Given the description of an element on the screen output the (x, y) to click on. 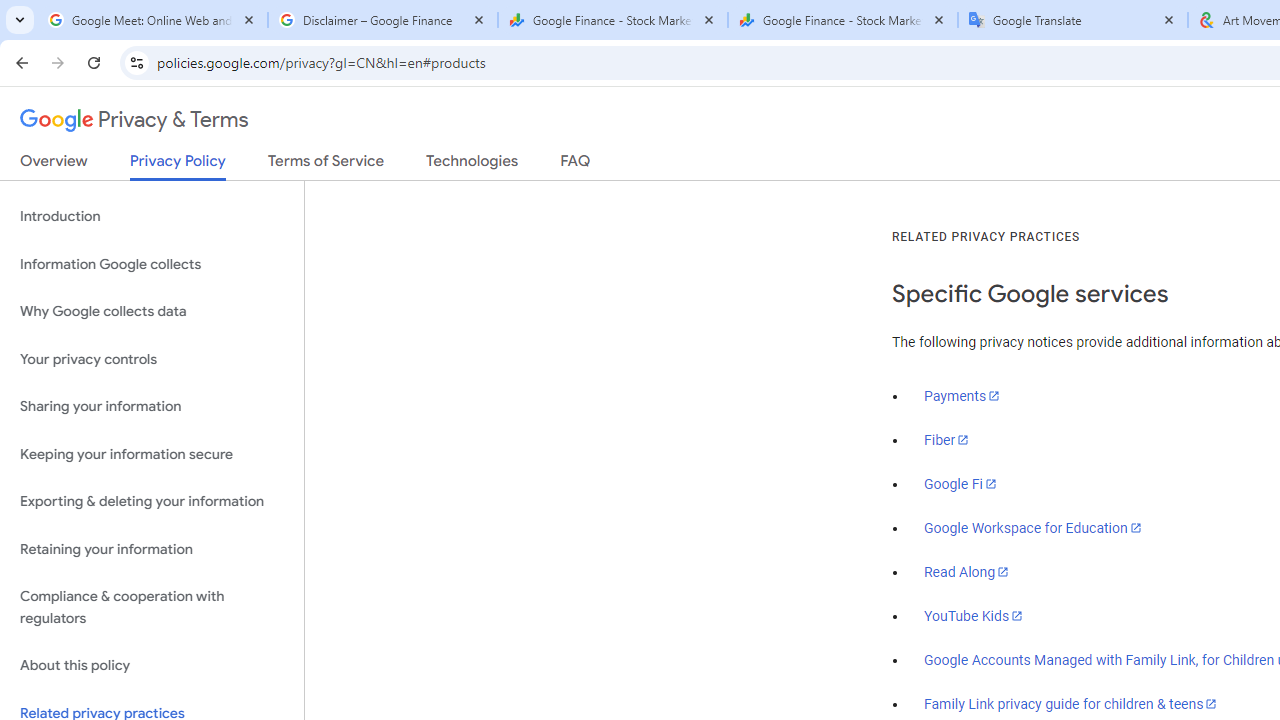
Retaining your information (152, 548)
Fiber (947, 440)
Google Translate (1072, 20)
Sharing your information (152, 407)
Exporting & deleting your information (152, 502)
Payments (962, 395)
